Given the description of an element on the screen output the (x, y) to click on. 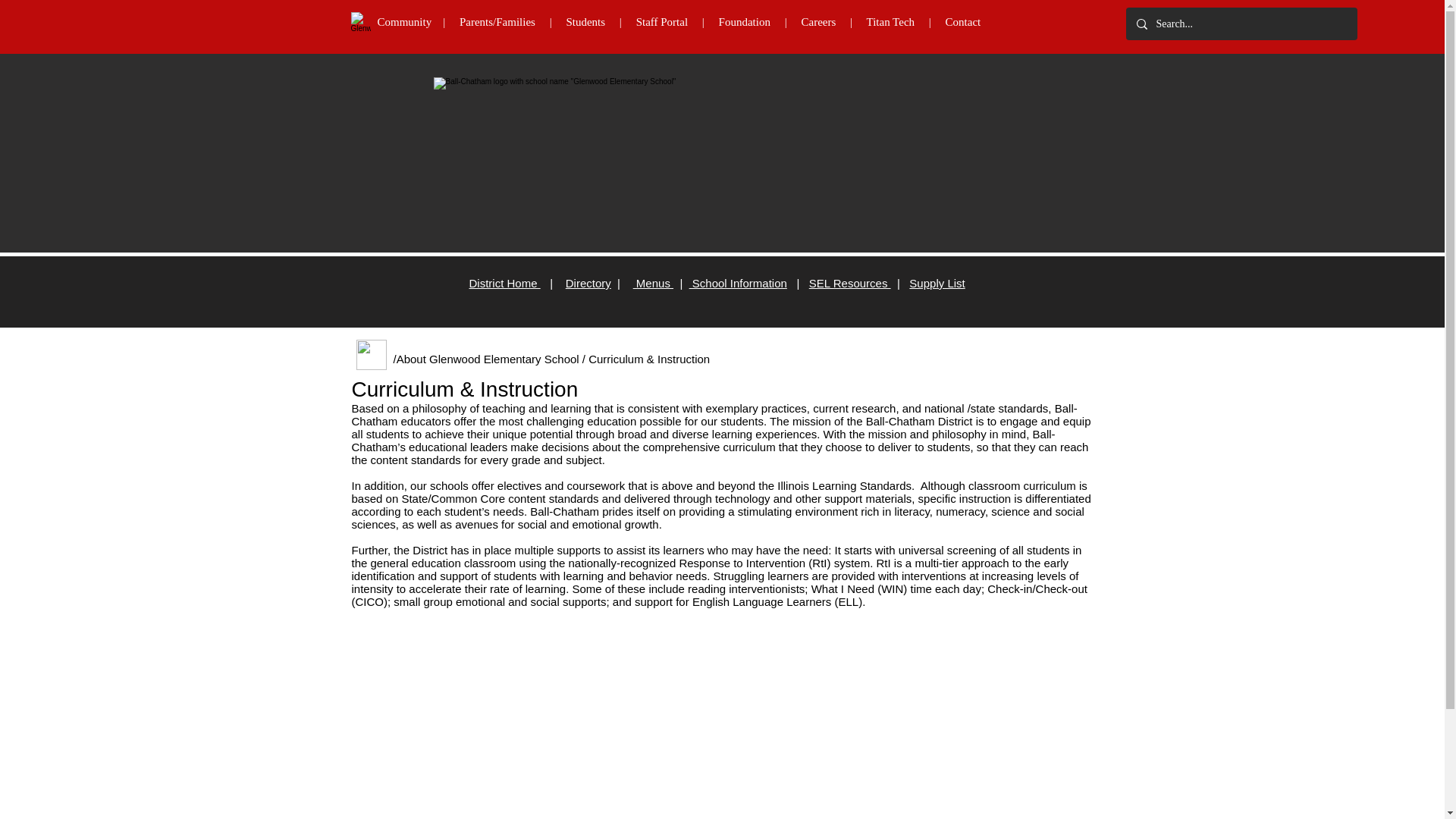
Contact (962, 21)
SEL Resources (850, 282)
Foundation      (751, 21)
District Home  (504, 282)
Titan Tech (890, 21)
 Menus  (652, 282)
About Glenwood Elementary School (487, 358)
Careers (817, 21)
 School Information (737, 282)
Supply List (935, 282)
